Given the description of an element on the screen output the (x, y) to click on. 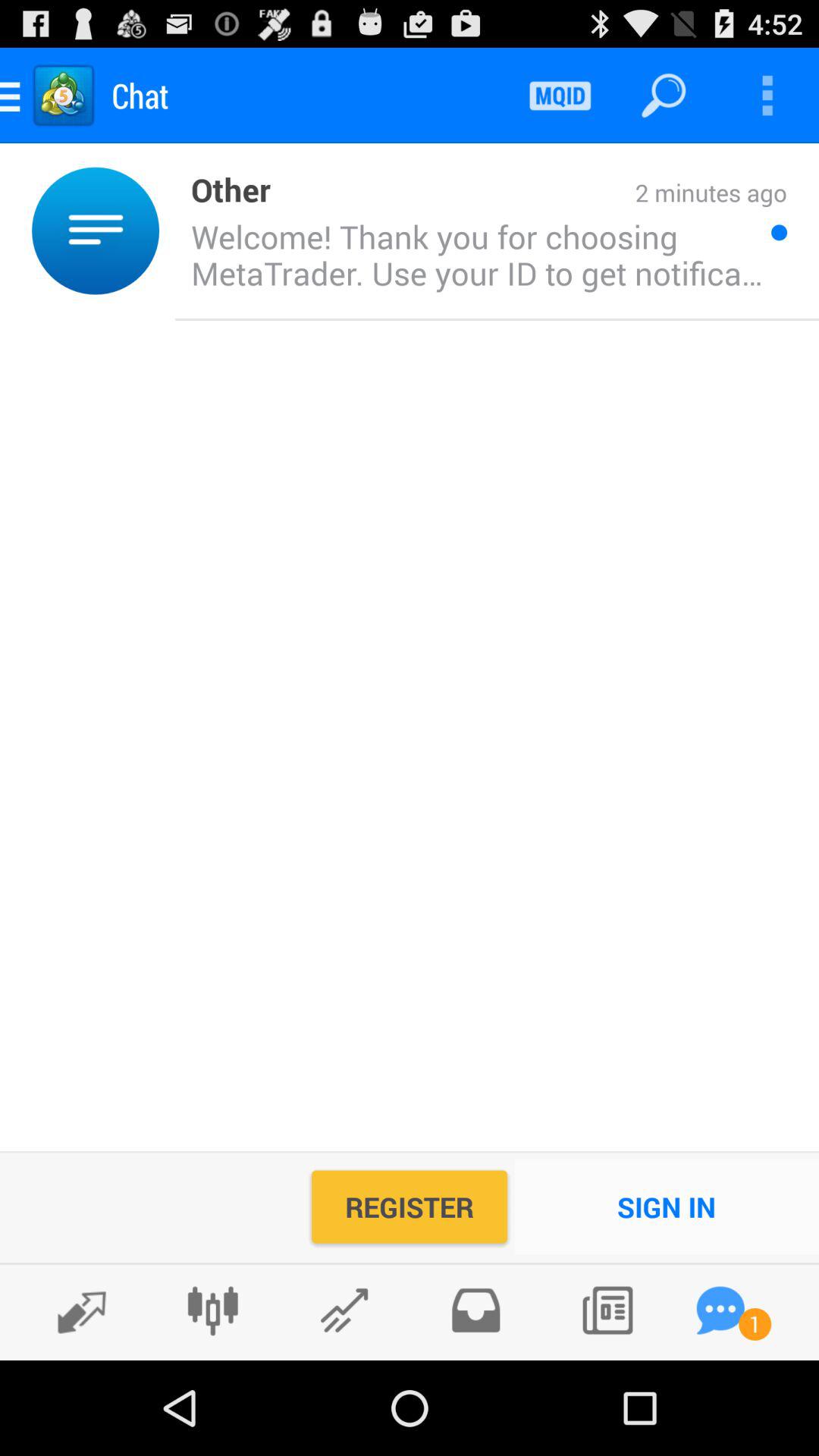
press icon next to welcome thank you (779, 232)
